Given the description of an element on the screen output the (x, y) to click on. 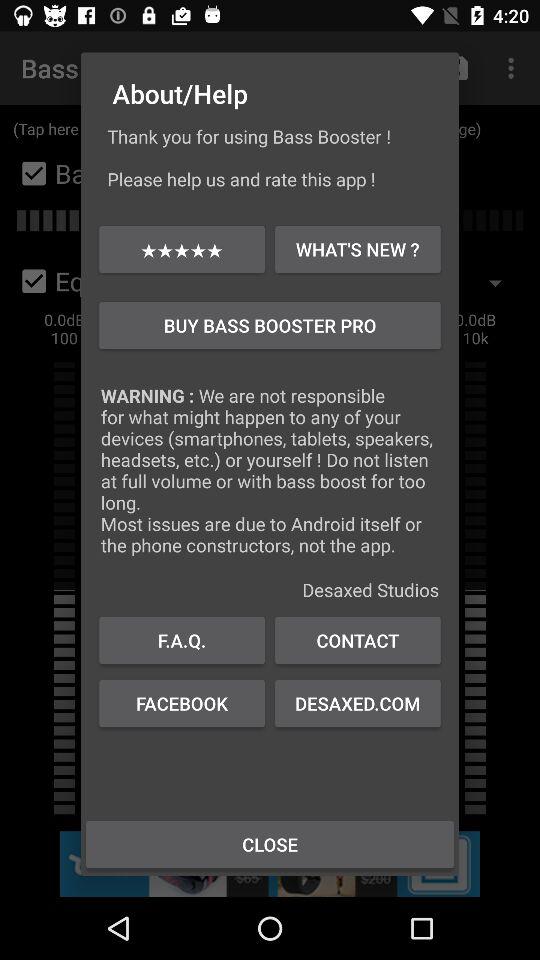
turn on the item above the facebook item (357, 639)
